Given the description of an element on the screen output the (x, y) to click on. 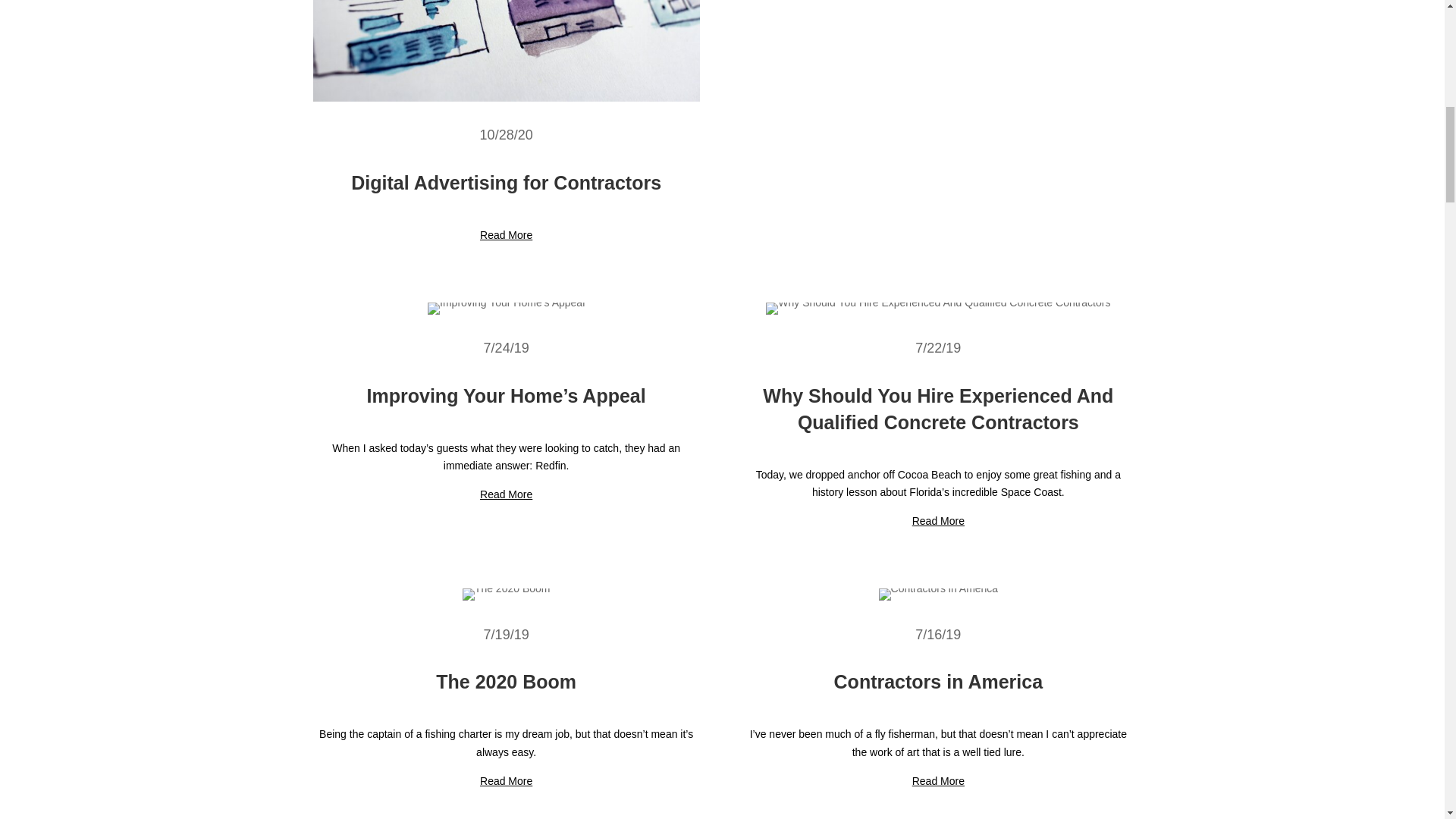
Digital Advertising for Contractors (505, 182)
Contractors in America (938, 681)
Read More (937, 521)
Read More (506, 494)
Digital Advertising for Contractors (505, 50)
Read More (937, 780)
The 2020 Boom (505, 681)
Contractors in America (938, 594)
Read More (506, 234)
